Given the description of an element on the screen output the (x, y) to click on. 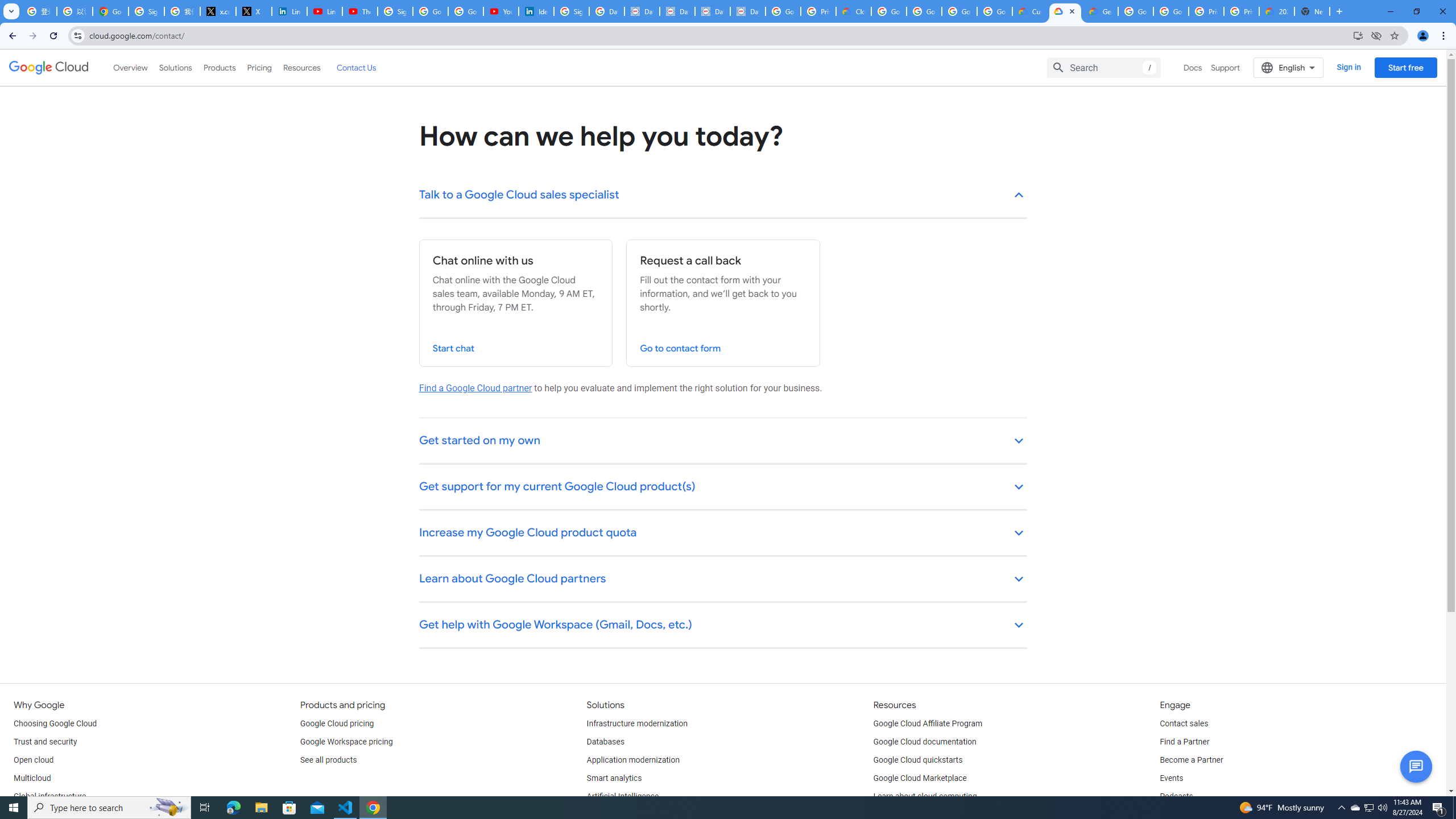
LinkedIn - YouTube (324, 11)
Smart analytics (614, 778)
Google Cloud quickstarts (917, 760)
Global infrastructure (49, 796)
Google Cloud documentation (924, 742)
Get started on my own keyboard_arrow_down (723, 441)
Podcasts (1175, 796)
Data Privacy Framework (747, 11)
Start free (1405, 67)
